Given the description of an element on the screen output the (x, y) to click on. 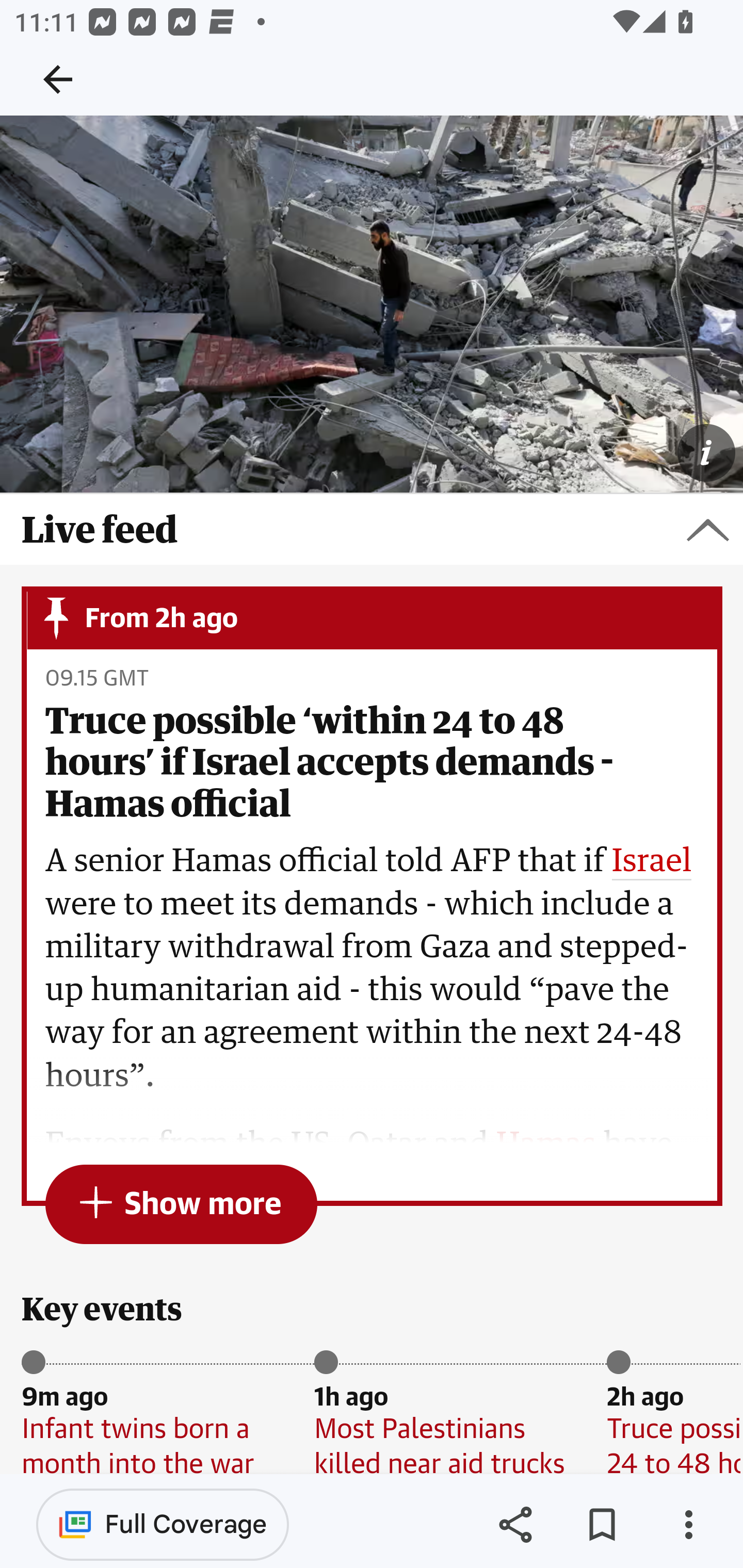
Navigate up (57, 79)
Live feed (371, 529)
09.15 GMT (96, 679)
Israel (651, 862)
Share (514, 1524)
Save for later (601, 1524)
More options (688, 1524)
Full Coverage (162, 1524)
